Given the description of an element on the screen output the (x, y) to click on. 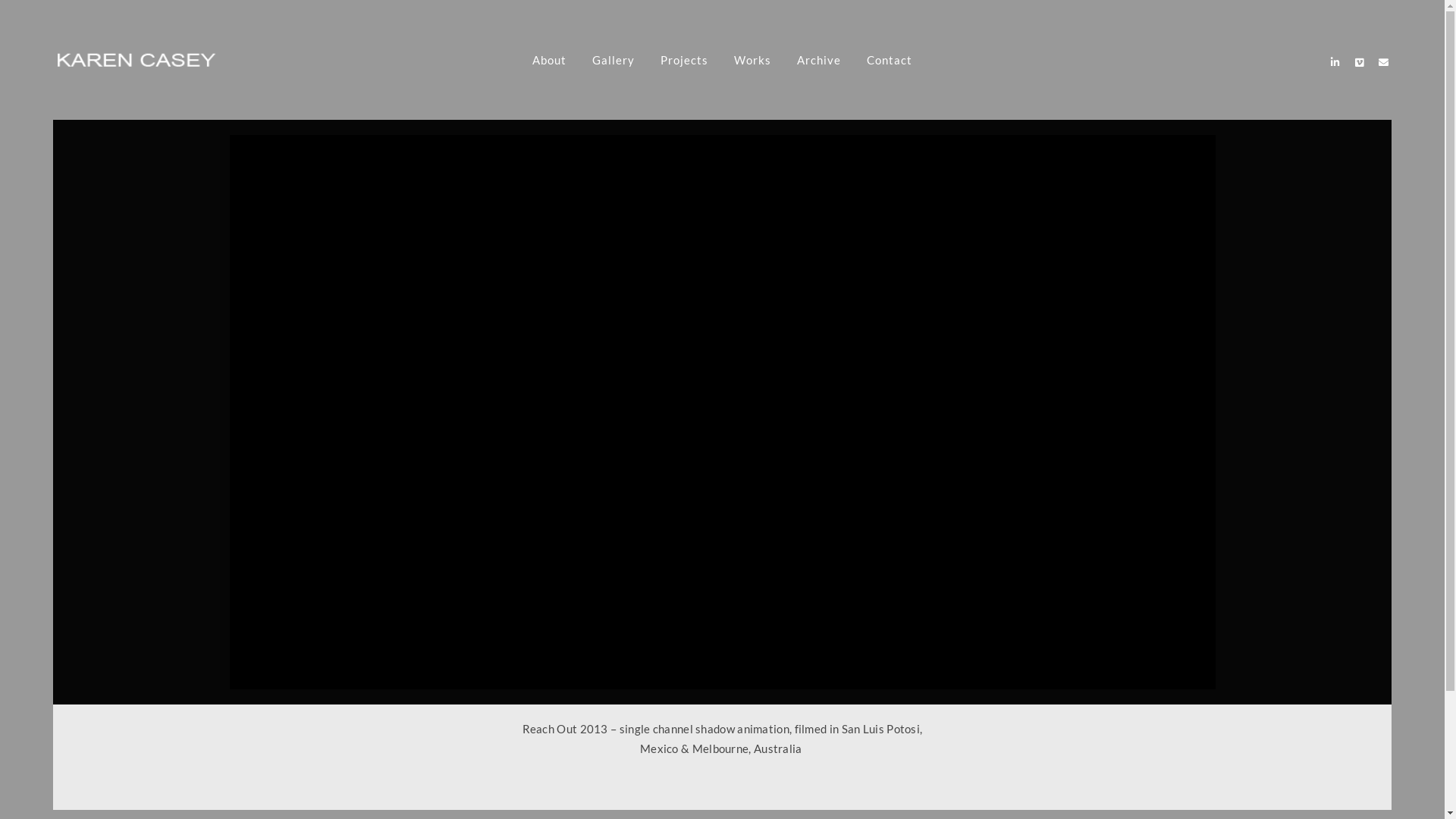
About Element type: text (549, 59)
Works Element type: text (752, 59)
vimeo Video Player Element type: hover (721, 411)
Archive Element type: text (818, 59)
Gallery Element type: text (613, 59)
Projects Element type: text (684, 59)
Contact Element type: text (889, 59)
